Given the description of an element on the screen output the (x, y) to click on. 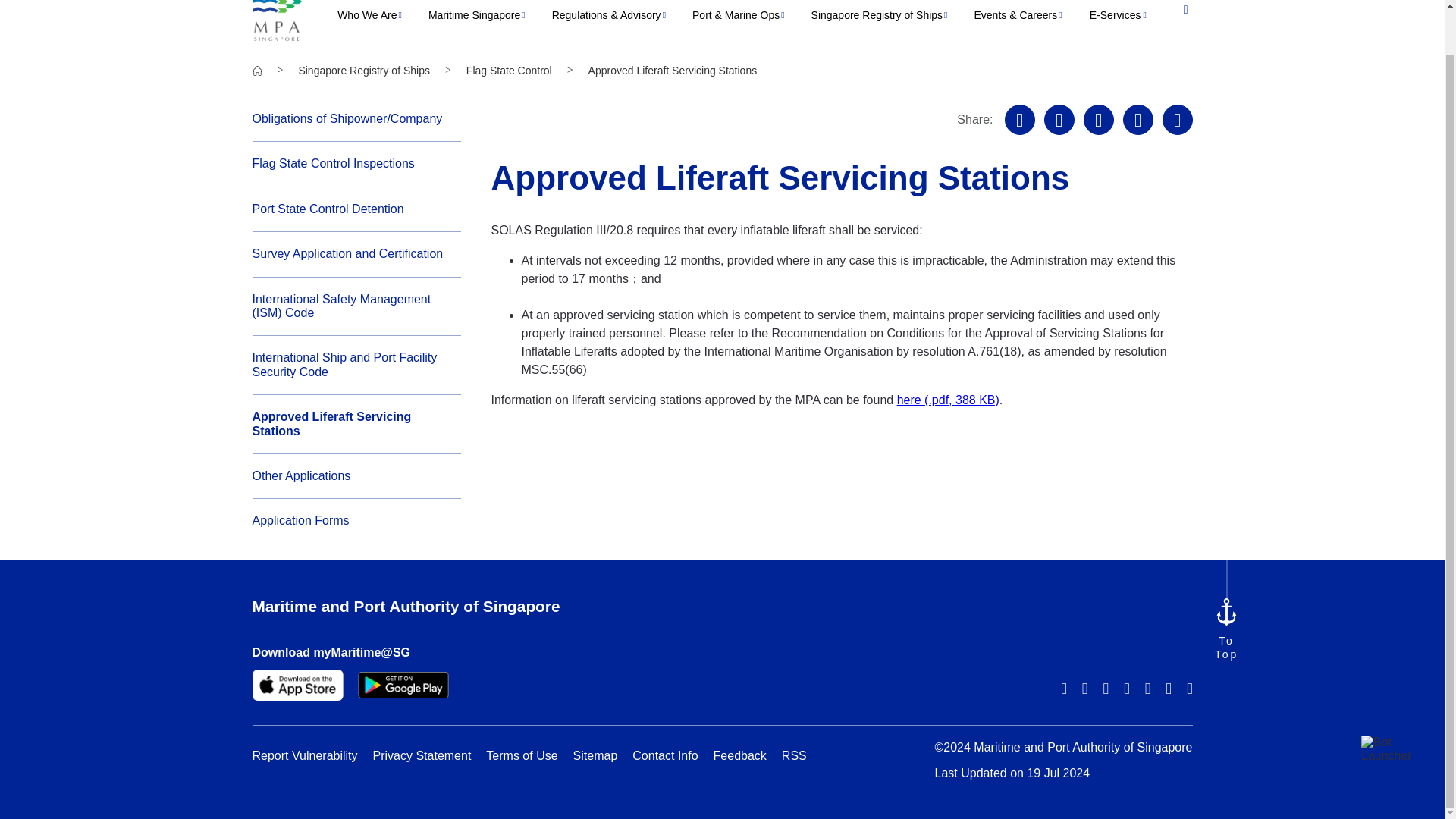
Who We Are (366, 22)
To Top (1225, 629)
Maritime Singapore (473, 22)
